Given the description of an element on the screen output the (x, y) to click on. 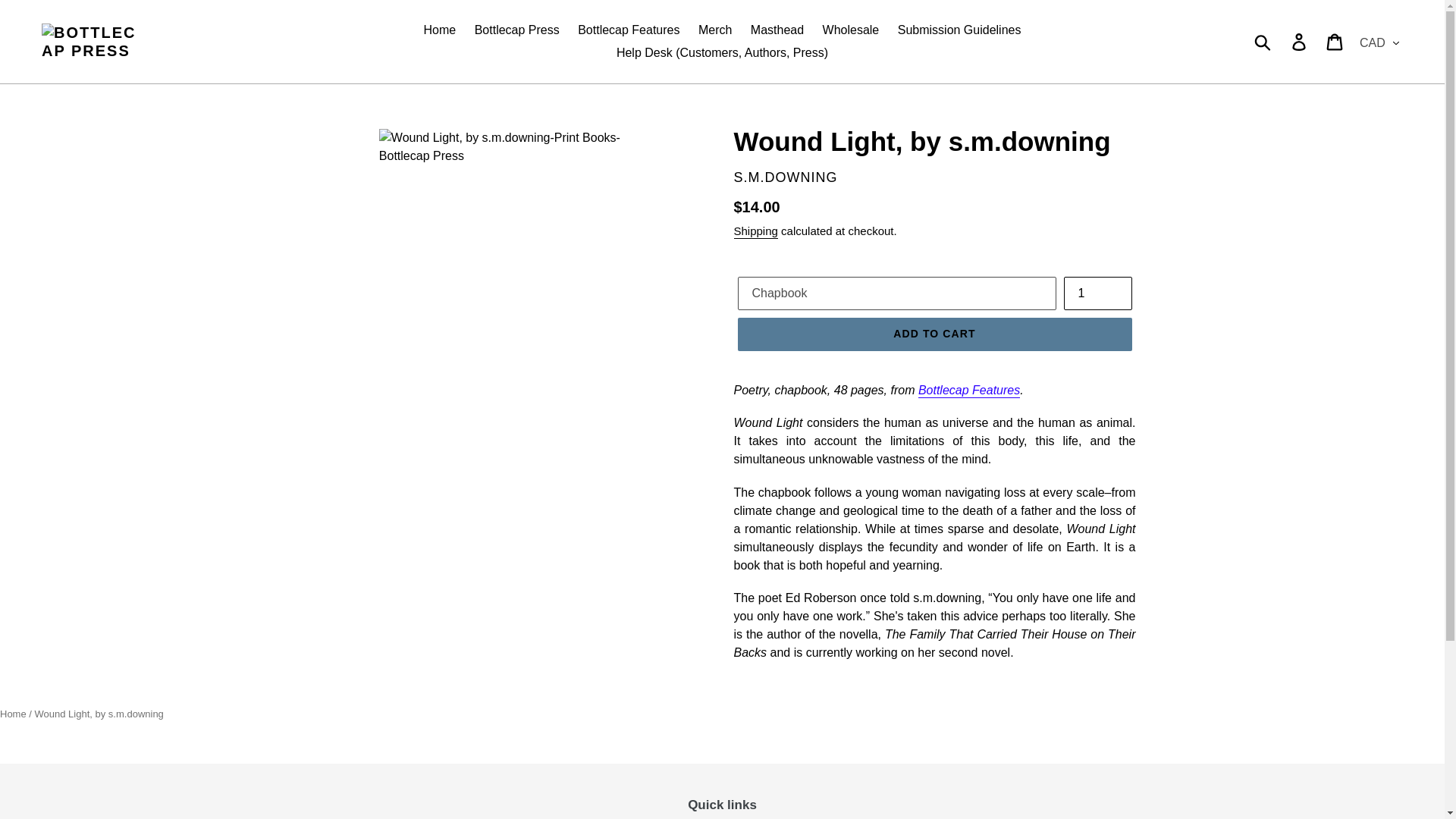
Cart (1335, 41)
Wound Light, by s.m.downing (98, 713)
Home (440, 29)
ADD TO CART (933, 334)
Submit (1263, 41)
Submission Guidelines (959, 29)
Bottlecap Features (969, 391)
Log in (1299, 41)
Bottlecap Features (628, 29)
Bottlecap Press (517, 29)
